Given the description of an element on the screen output the (x, y) to click on. 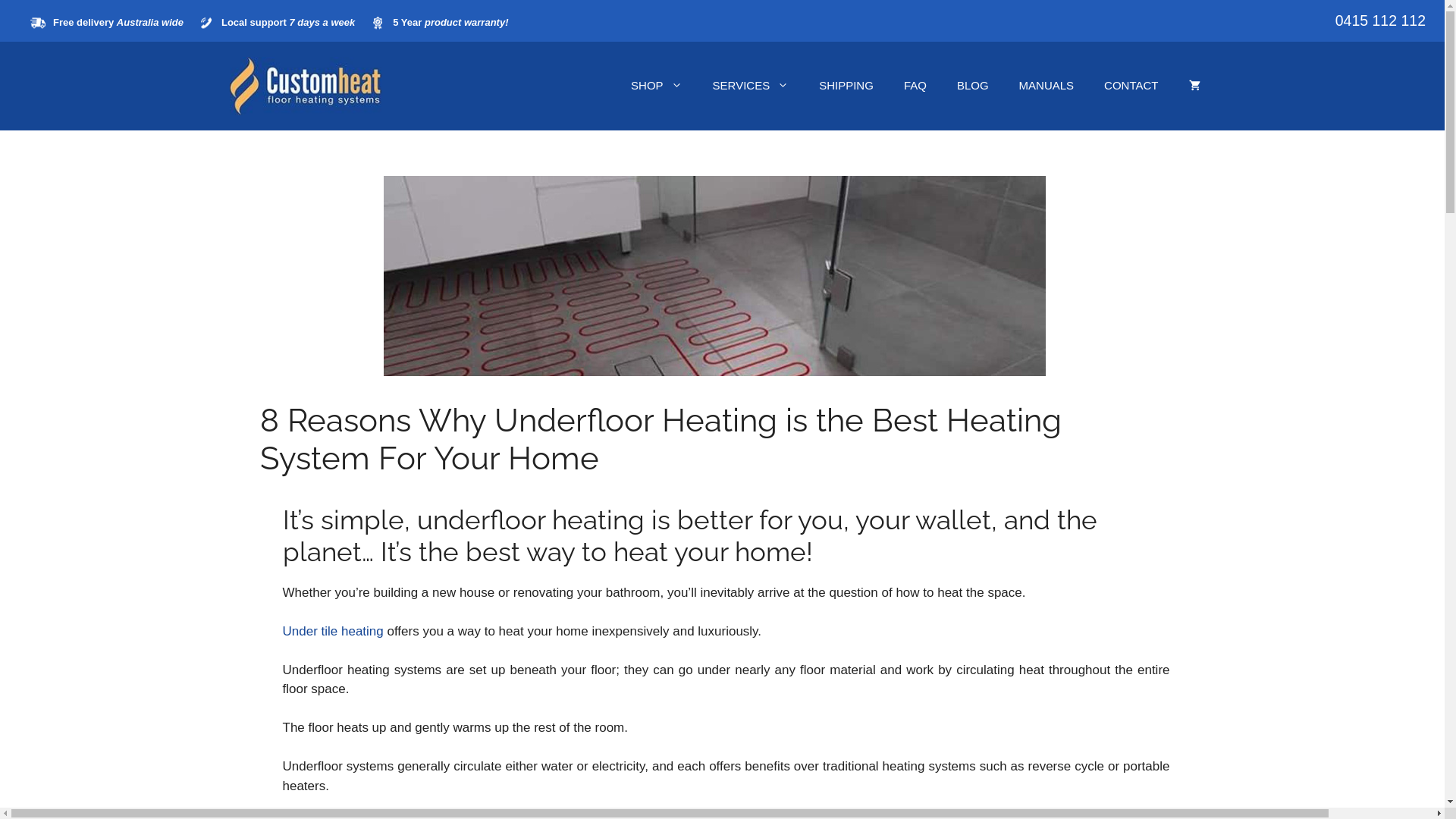
SHIPPING Element type: text (845, 85)
BLOG Element type: text (972, 85)
MANUALS Element type: text (1046, 85)
FAQ Element type: text (914, 85)
CONTACT Element type: text (1130, 85)
Under tile heating Element type: text (332, 631)
SERVICES Element type: text (750, 85)
SHOP Element type: text (656, 85)
0415 112 112 Element type: text (1380, 20)
View your shopping cart Element type: hover (1194, 85)
